Given the description of an element on the screen output the (x, y) to click on. 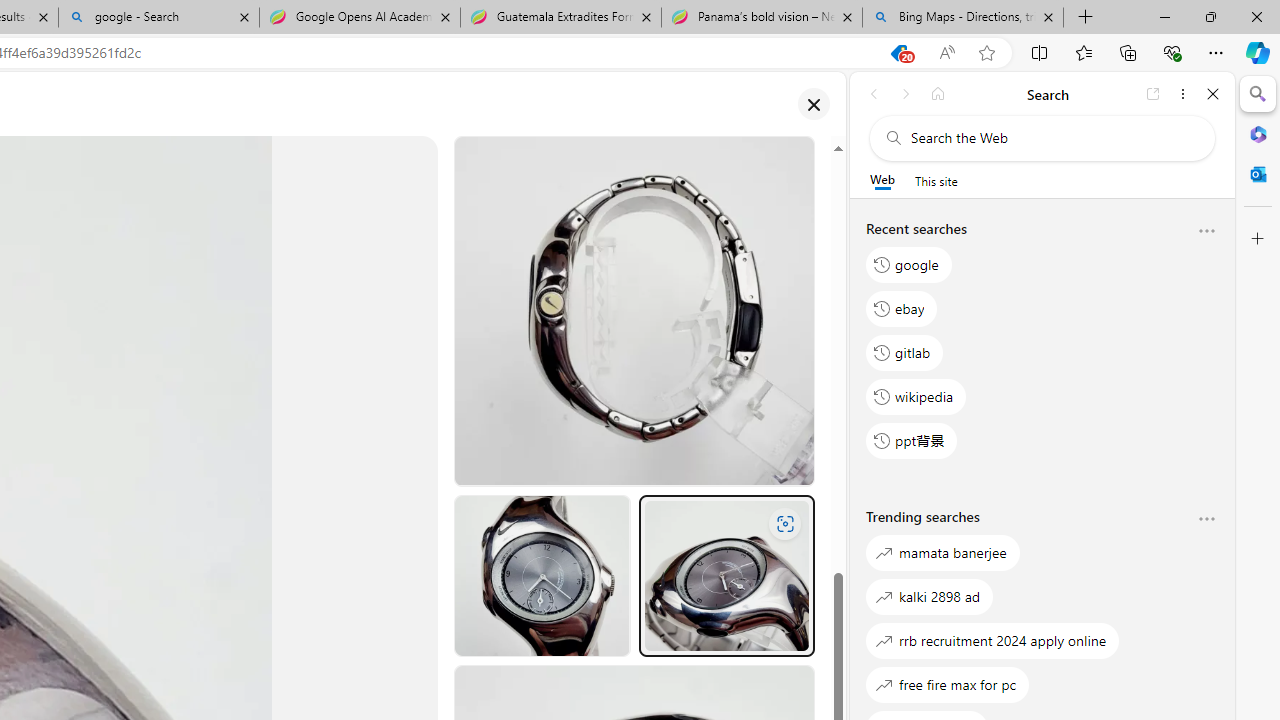
google (909, 264)
